Given the description of an element on the screen output the (x, y) to click on. 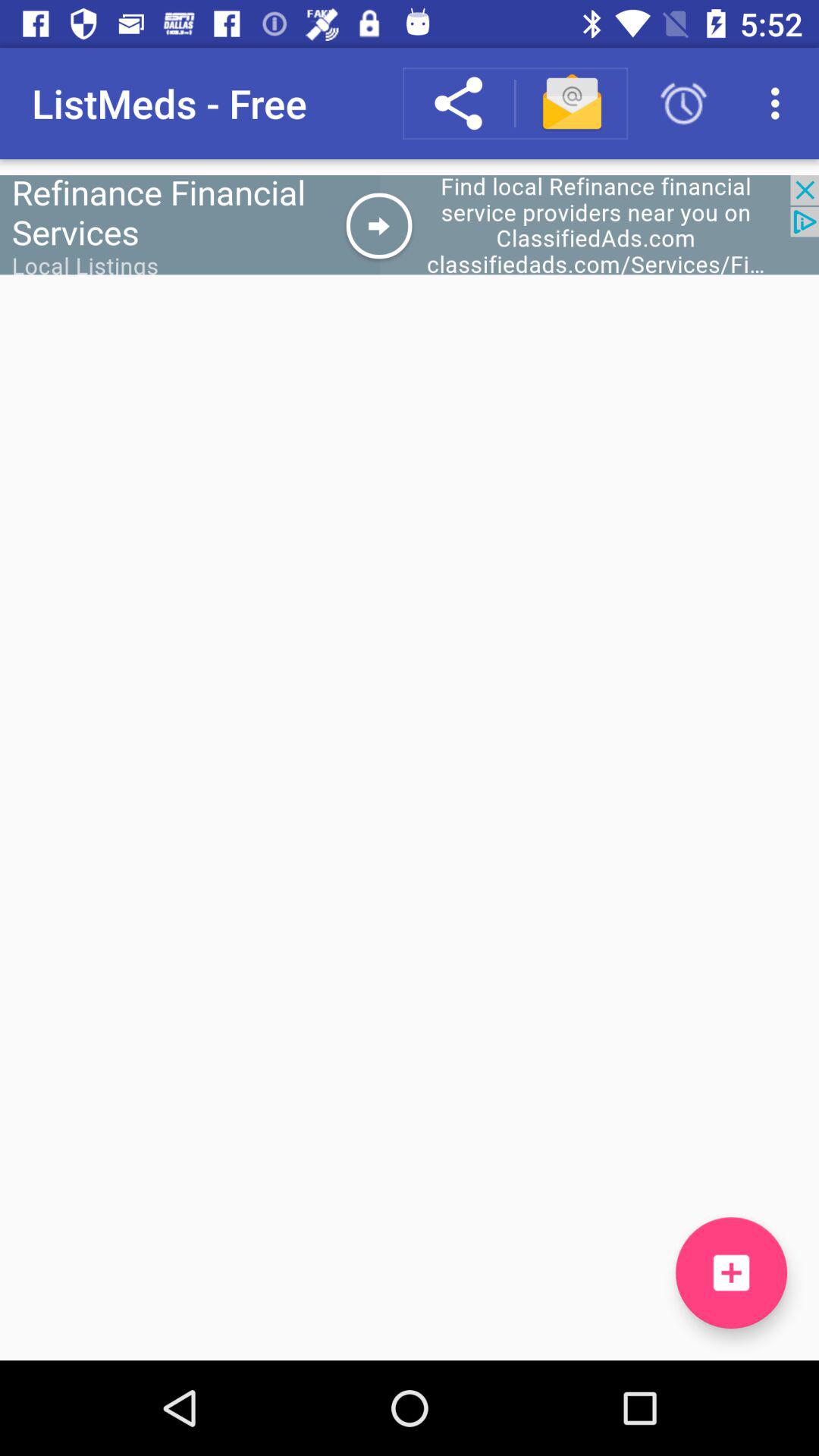
advertisement (409, 224)
